Given the description of an element on the screen output the (x, y) to click on. 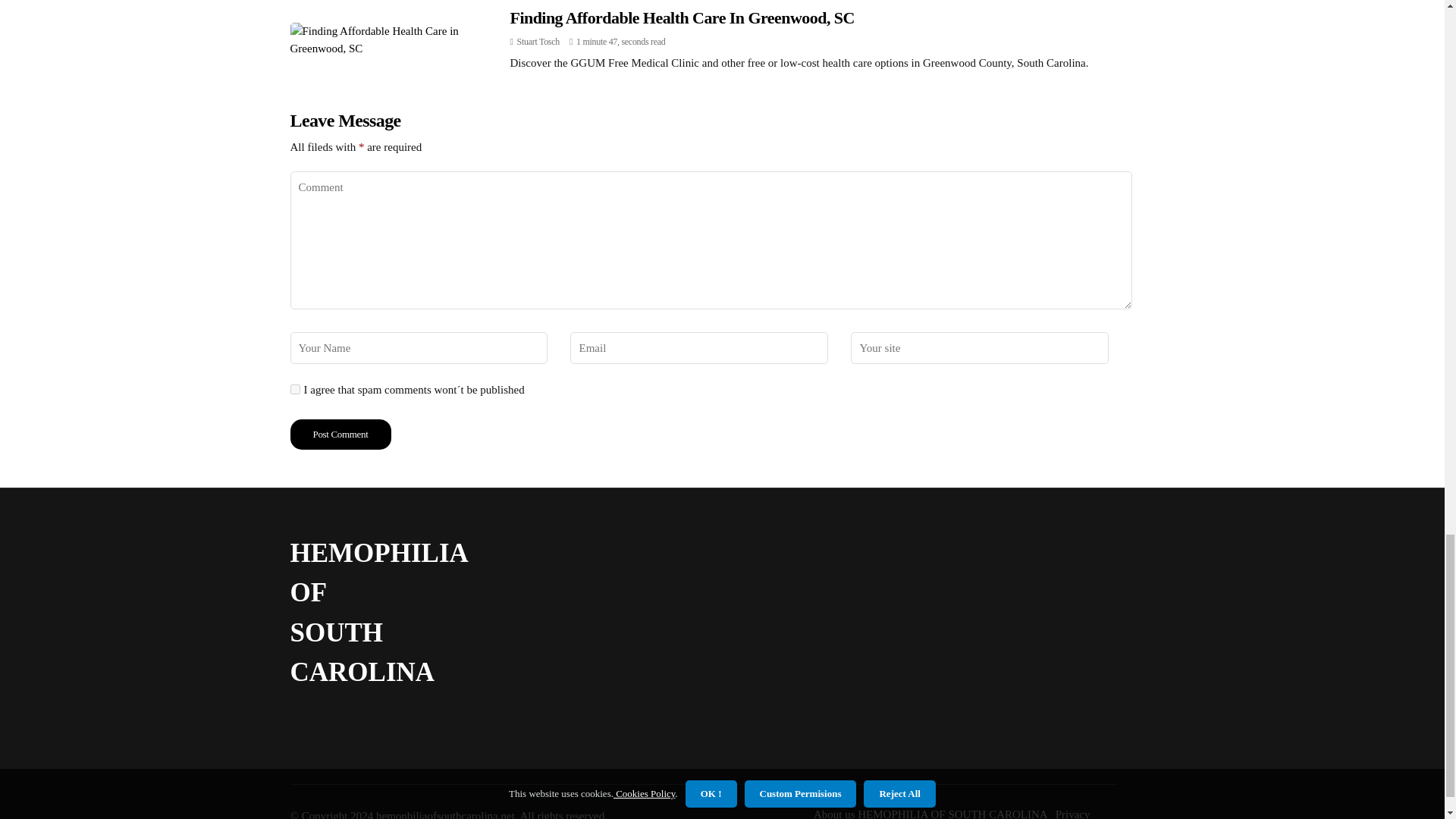
Stuart Tosch (537, 41)
Post Comment (339, 434)
Posts by Stuart Tosch (537, 41)
yes (294, 388)
Finding Affordable Health Care In Greenwood, SC (681, 17)
Post Comment (339, 434)
